Given the description of an element on the screen output the (x, y) to click on. 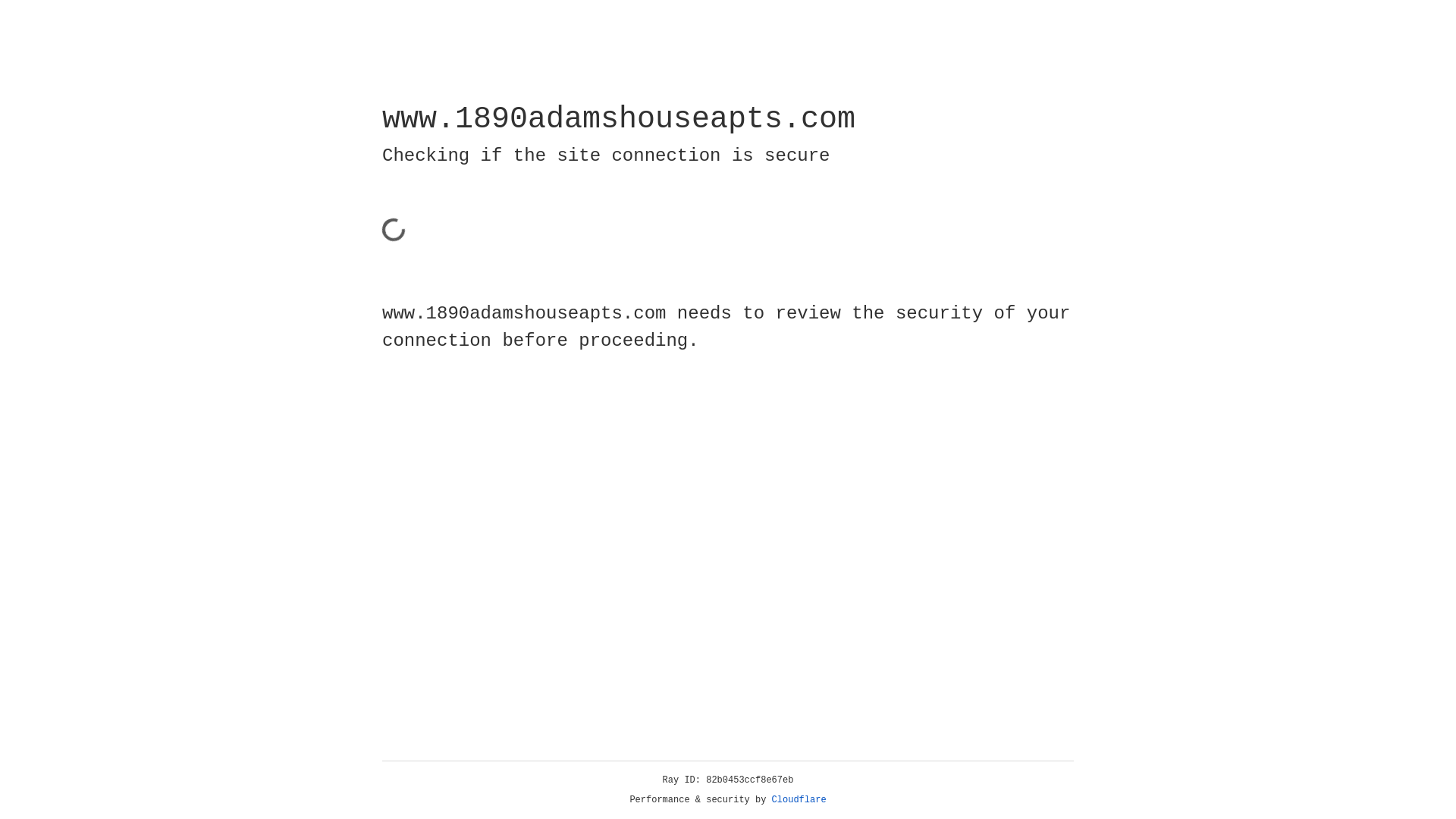
Cloudflare Element type: text (798, 799)
